Given the description of an element on the screen output the (x, y) to click on. 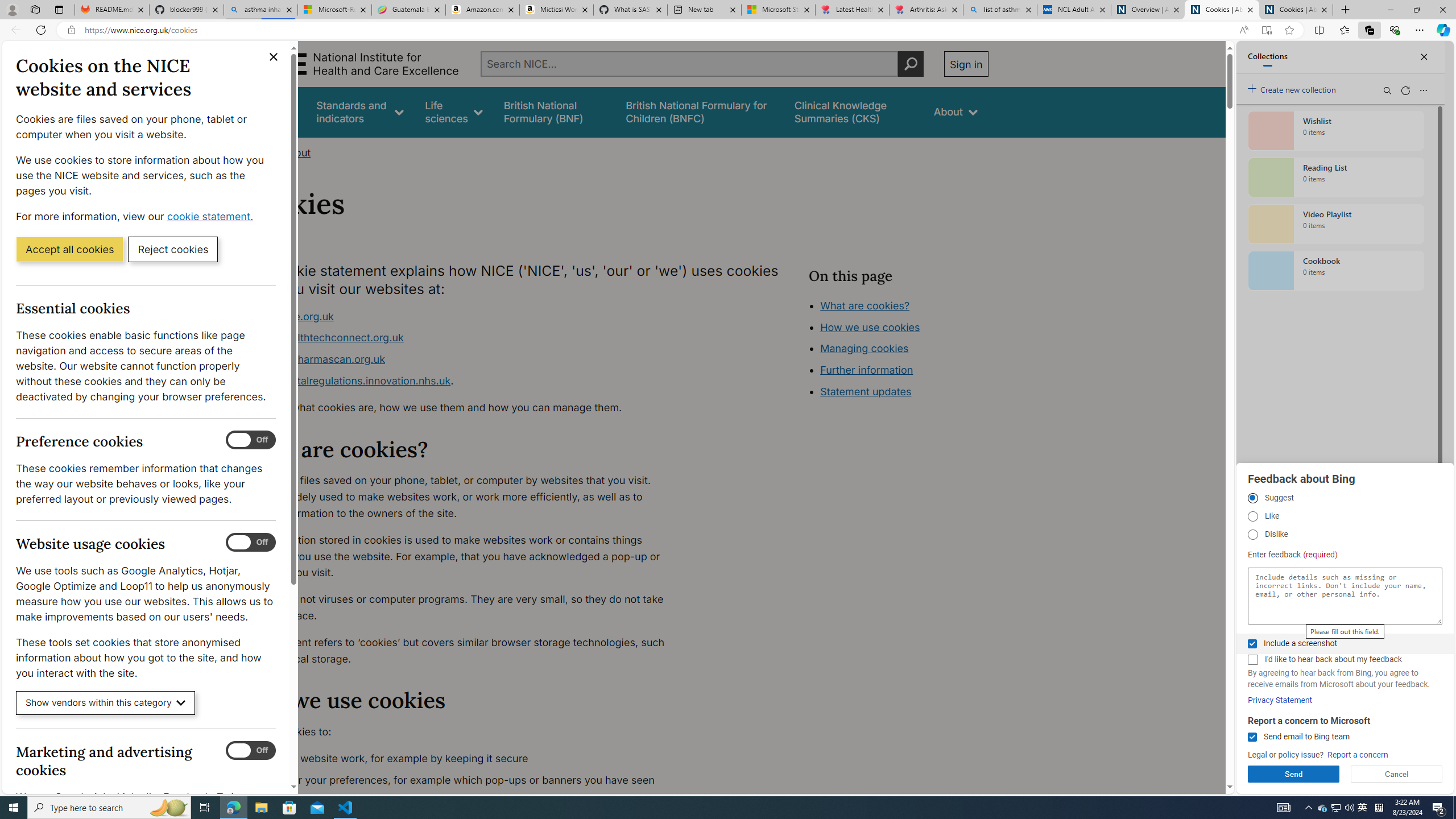
Close tab (1324, 9)
www.ukpharmascan.org.uk (464, 359)
Managing cookies (863, 348)
Address and search bar (658, 29)
Refresh (40, 29)
Life sciences (453, 111)
www.digitalregulations.innovation.nhs.uk. (464, 380)
Statement updates (865, 391)
View site information (70, 29)
www.digitalregulations.innovation.nhs.uk (351, 380)
About (296, 152)
Privacy Statement (1280, 700)
